Given the description of an element on the screen output the (x, y) to click on. 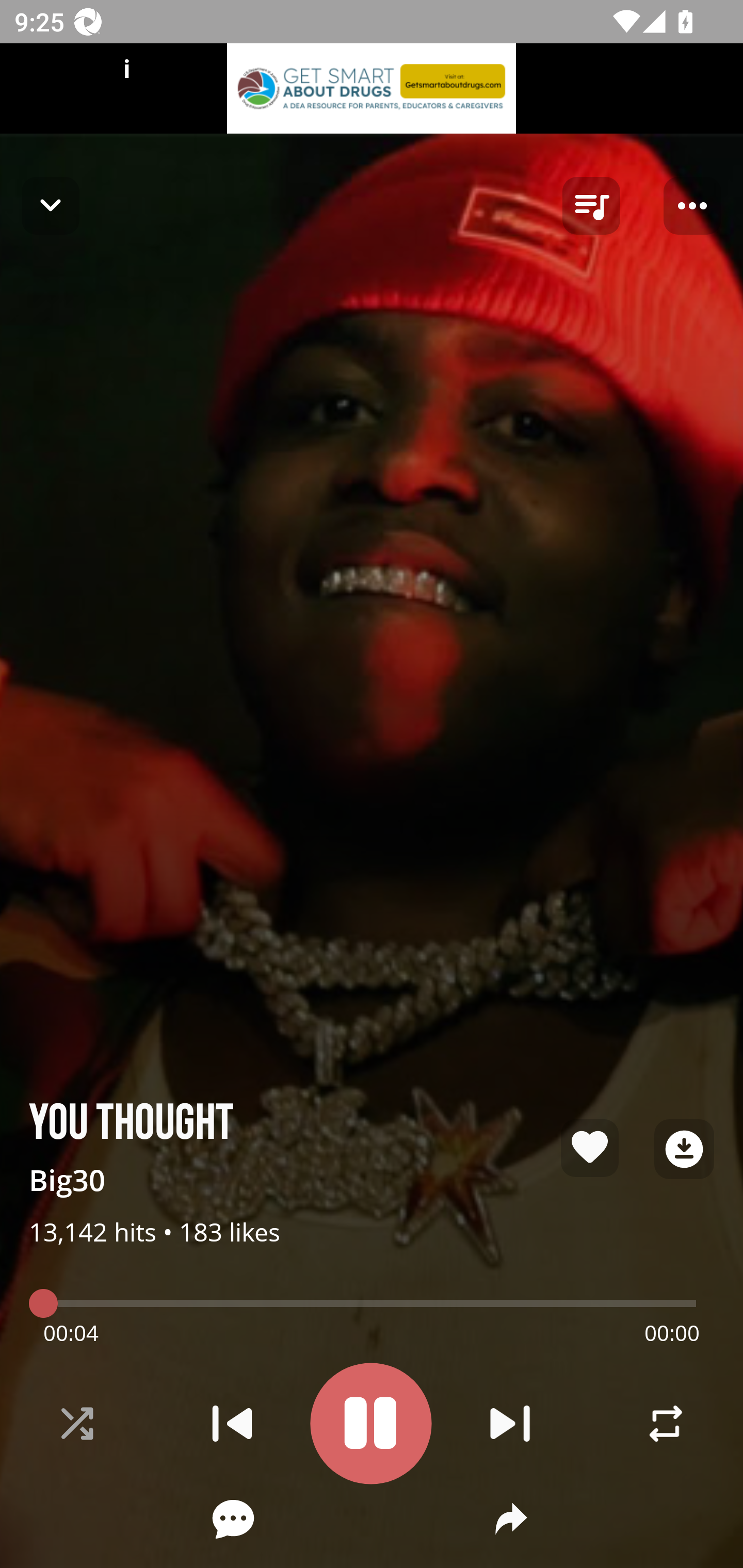
Navigate up (50, 205)
queue (590, 206)
Player options (692, 206)
